Given the description of an element on the screen output the (x, y) to click on. 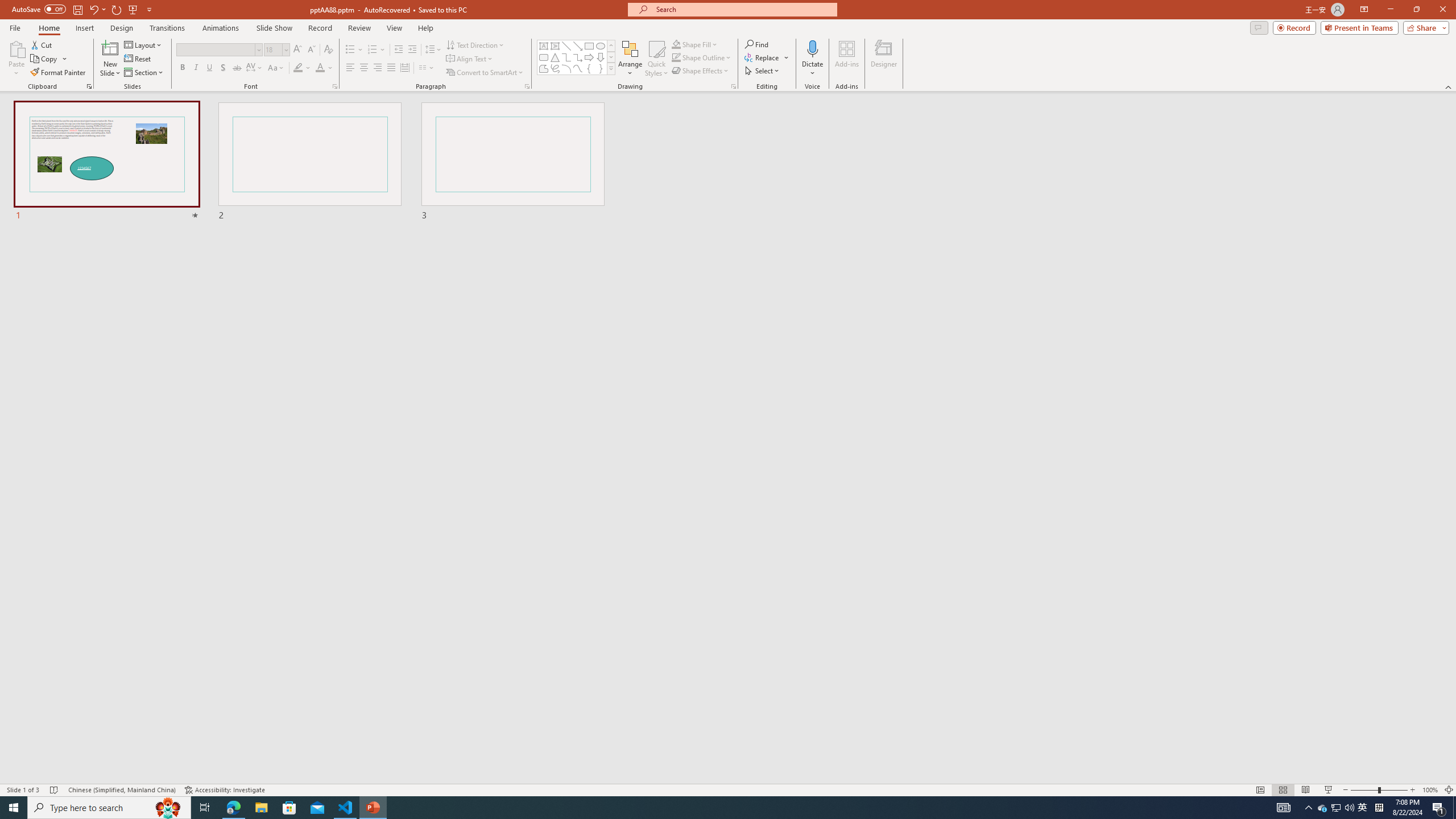
Replace... (762, 56)
Shape Effects (700, 69)
Font Size (273, 49)
Clear Formatting (327, 49)
Paste (16, 48)
Replace... (767, 56)
Numbering (376, 49)
Arc (566, 68)
Zoom 100% (1430, 790)
Copy (49, 58)
